Given the description of an element on the screen output the (x, y) to click on. 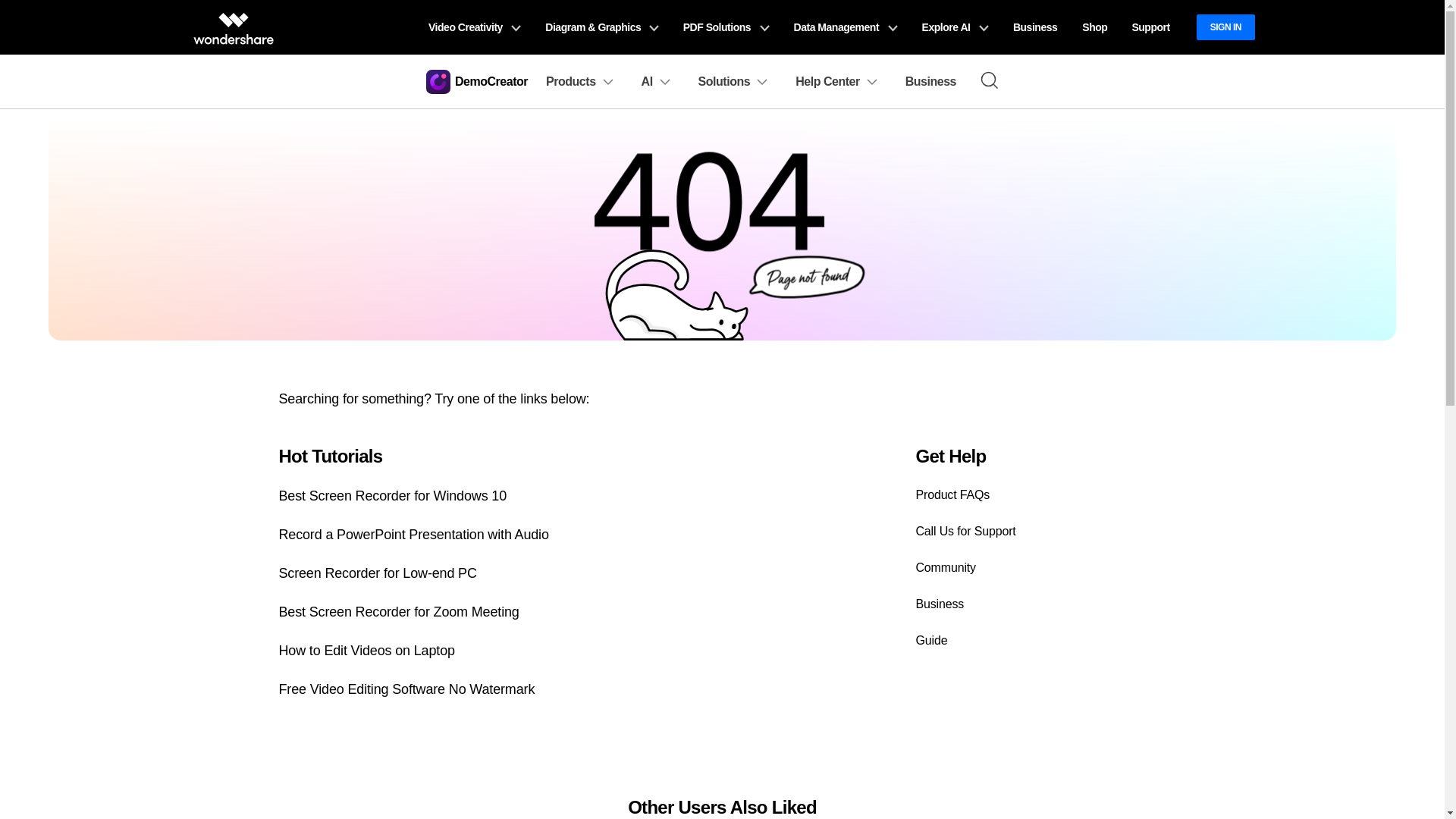
Explore AI (955, 27)
PDF Solutions (726, 27)
Data Management (845, 27)
Video Creativity (473, 27)
Business (1034, 27)
